Given the description of an element on the screen output the (x, y) to click on. 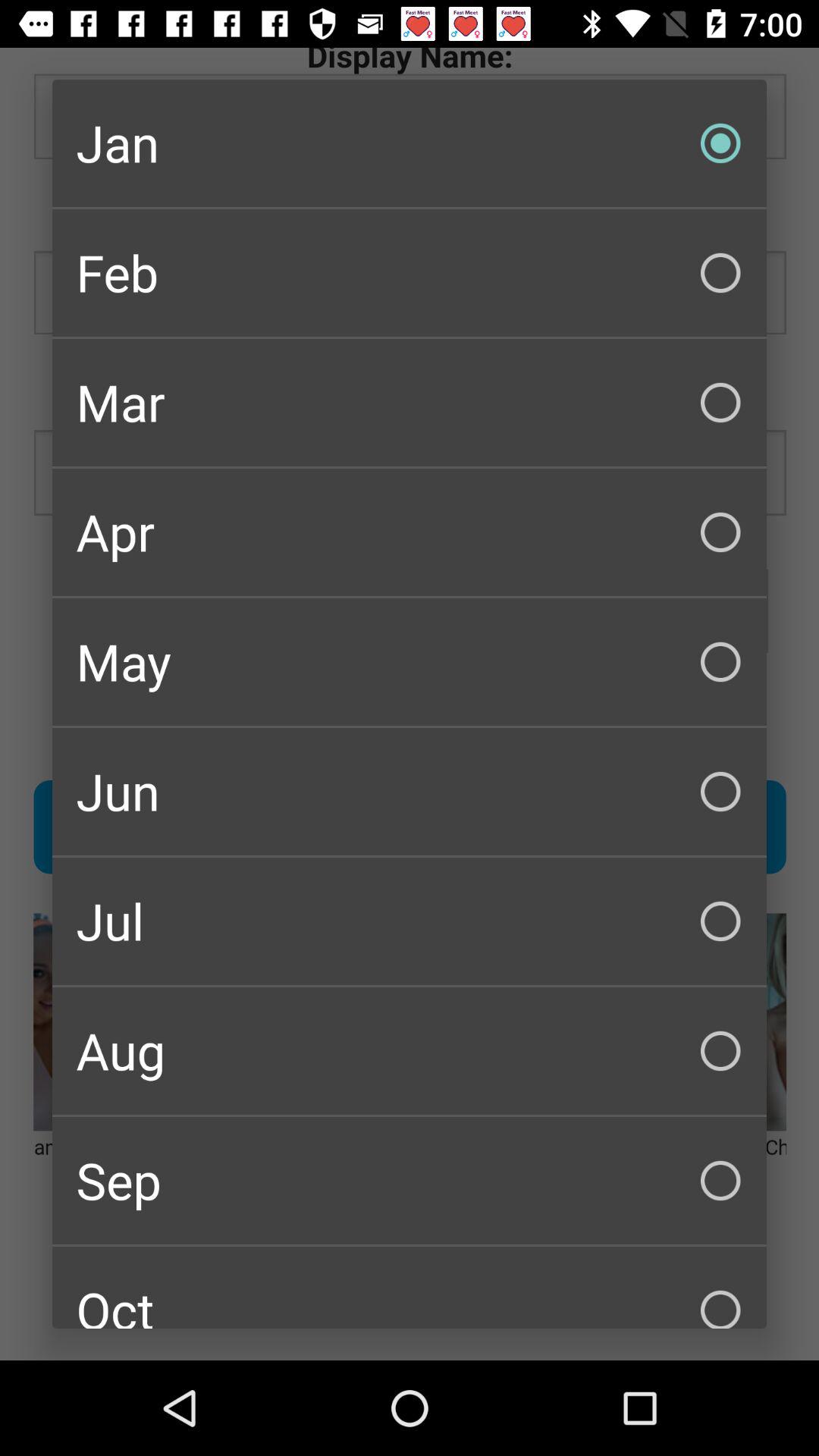
turn off the checkbox below the jun (409, 921)
